Given the description of an element on the screen output the (x, y) to click on. 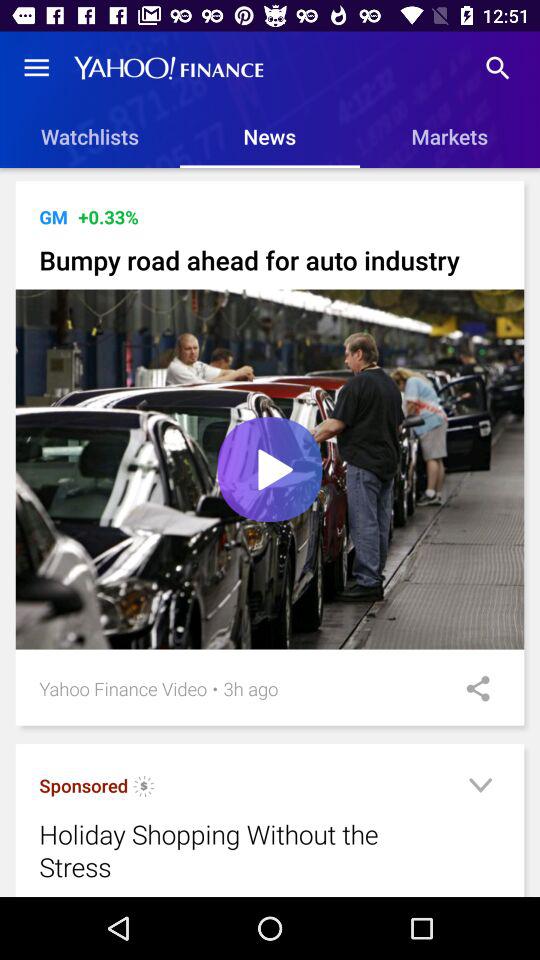
expand article (480, 788)
